Given the description of an element on the screen output the (x, y) to click on. 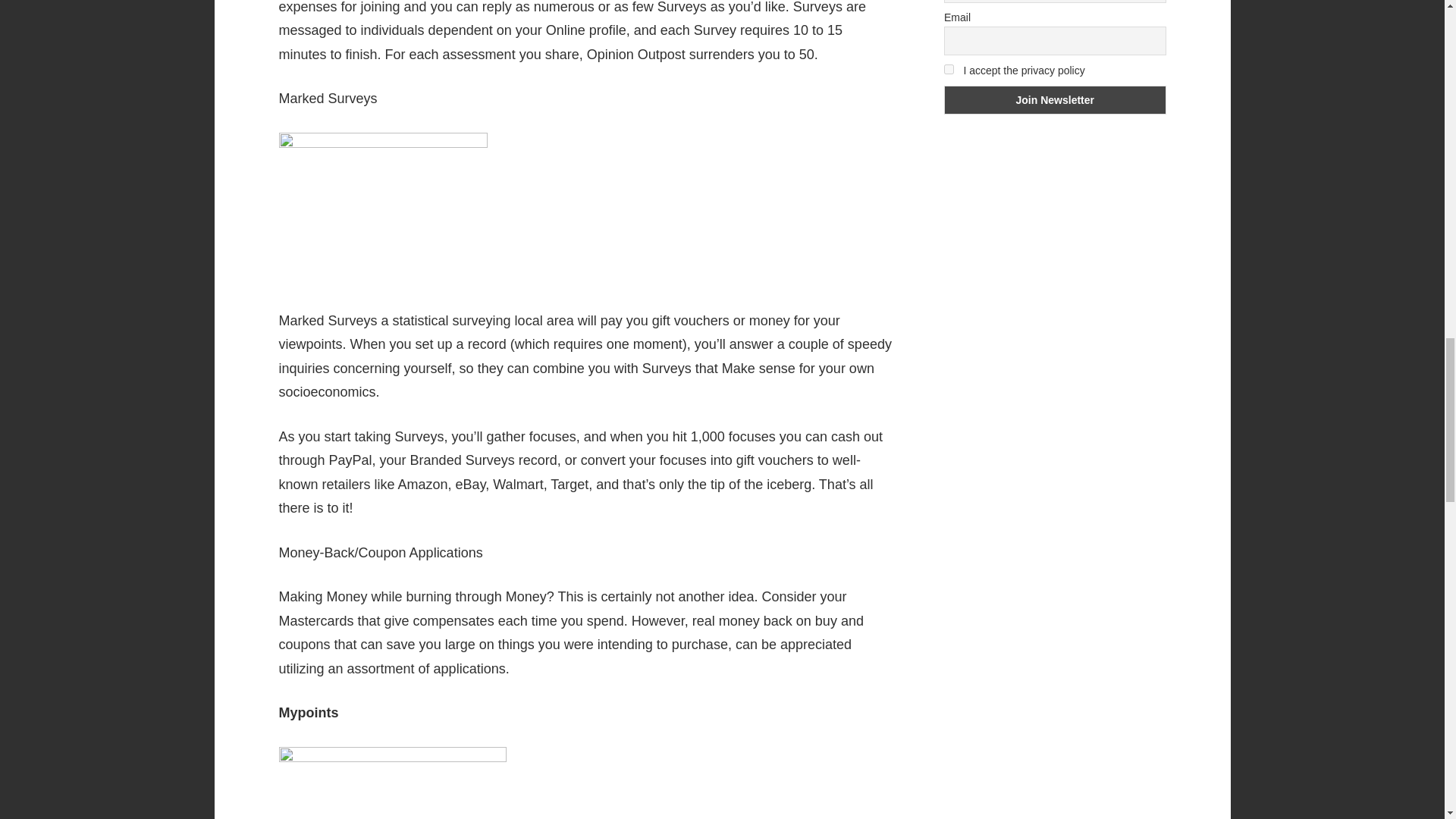
on (948, 69)
Join Newsletter (1054, 99)
